Given the description of an element on the screen output the (x, y) to click on. 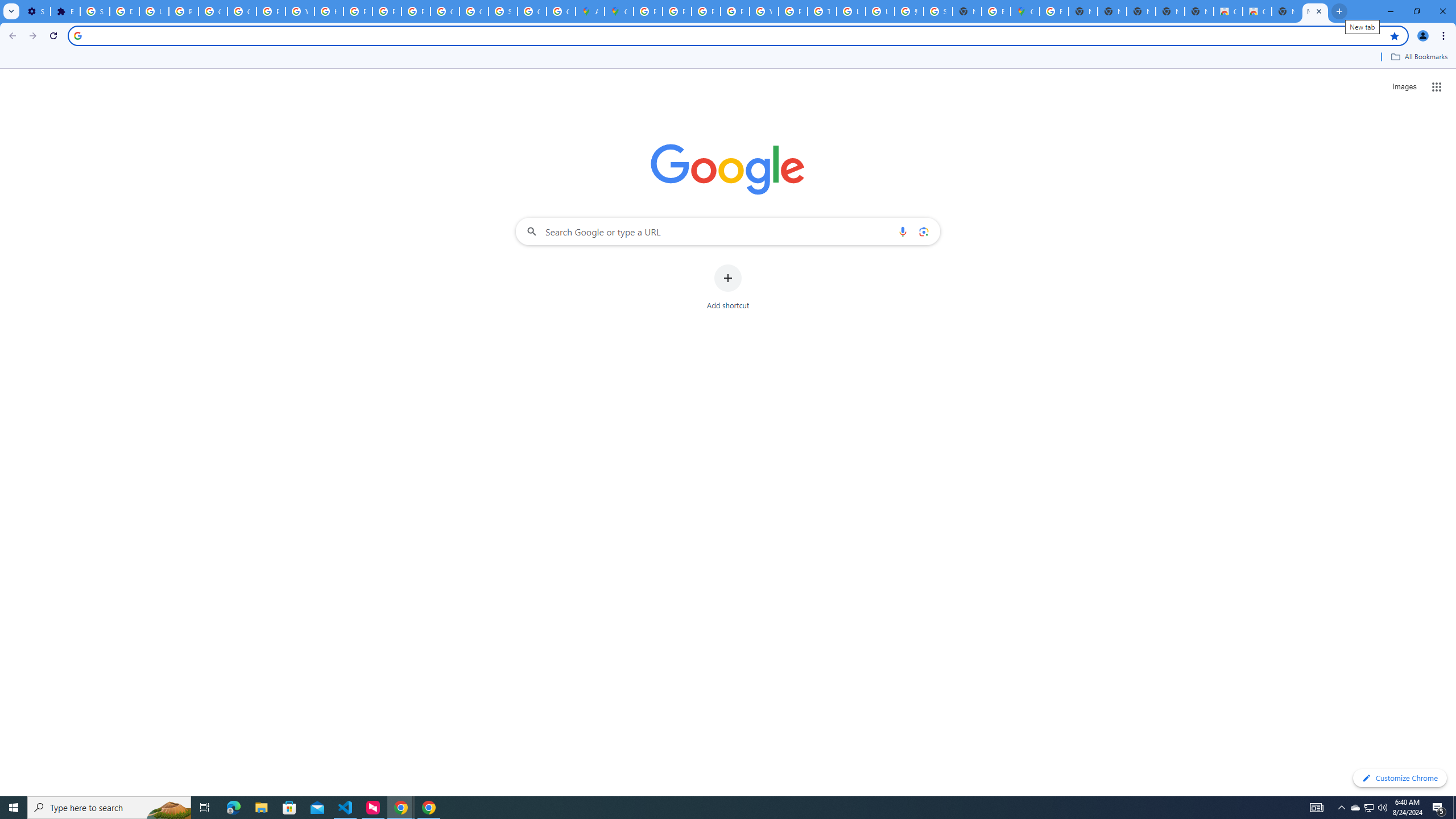
New Tab (1315, 11)
YouTube (763, 11)
Google Account Help (212, 11)
Google Maps (619, 11)
